Given the description of an element on the screen output the (x, y) to click on. 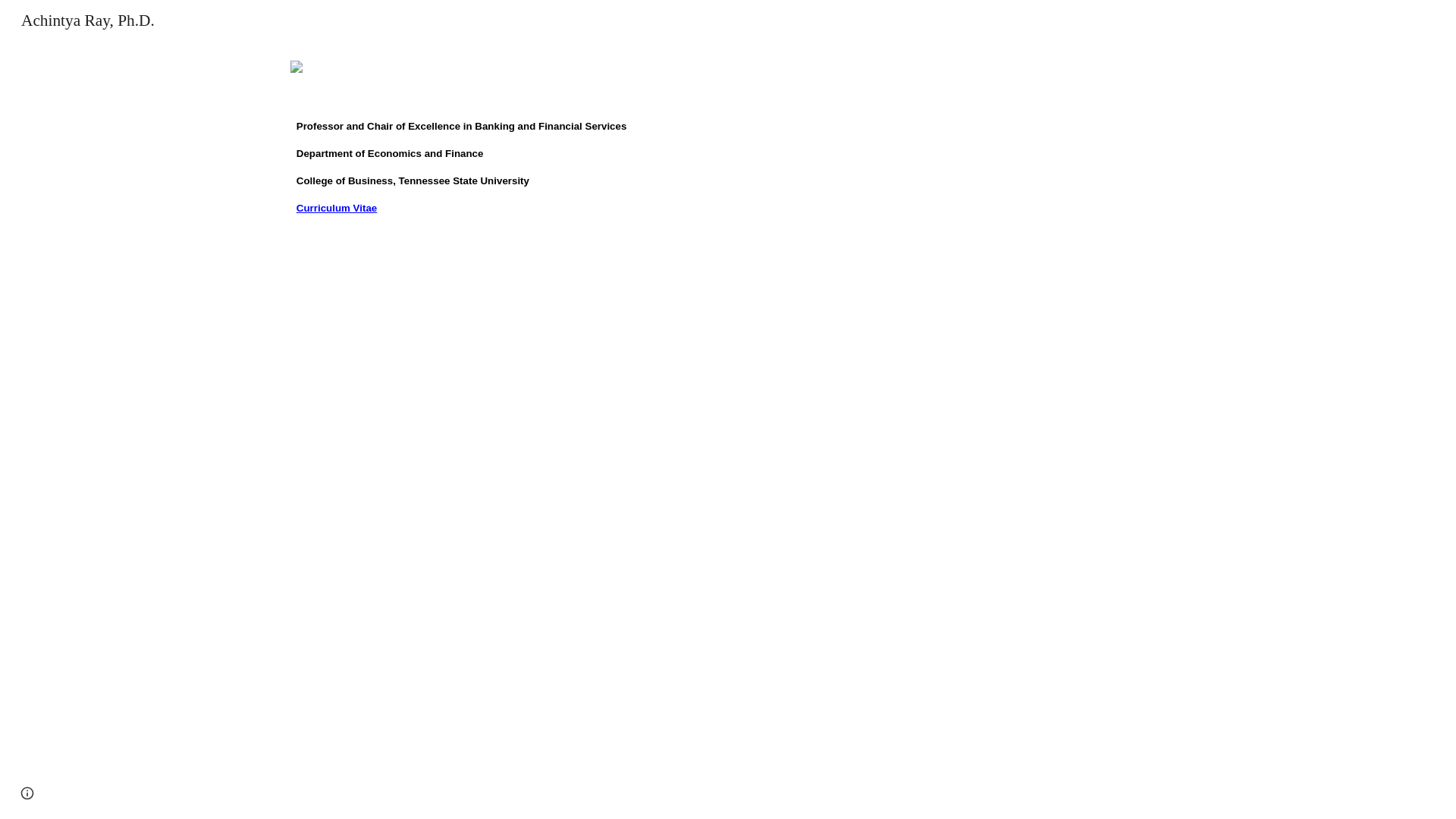
Achintya Ray, Ph.D. Element type: text (87, 19)
Curriculum Vitae Element type: text (336, 206)
